Given the description of an element on the screen output the (x, y) to click on. 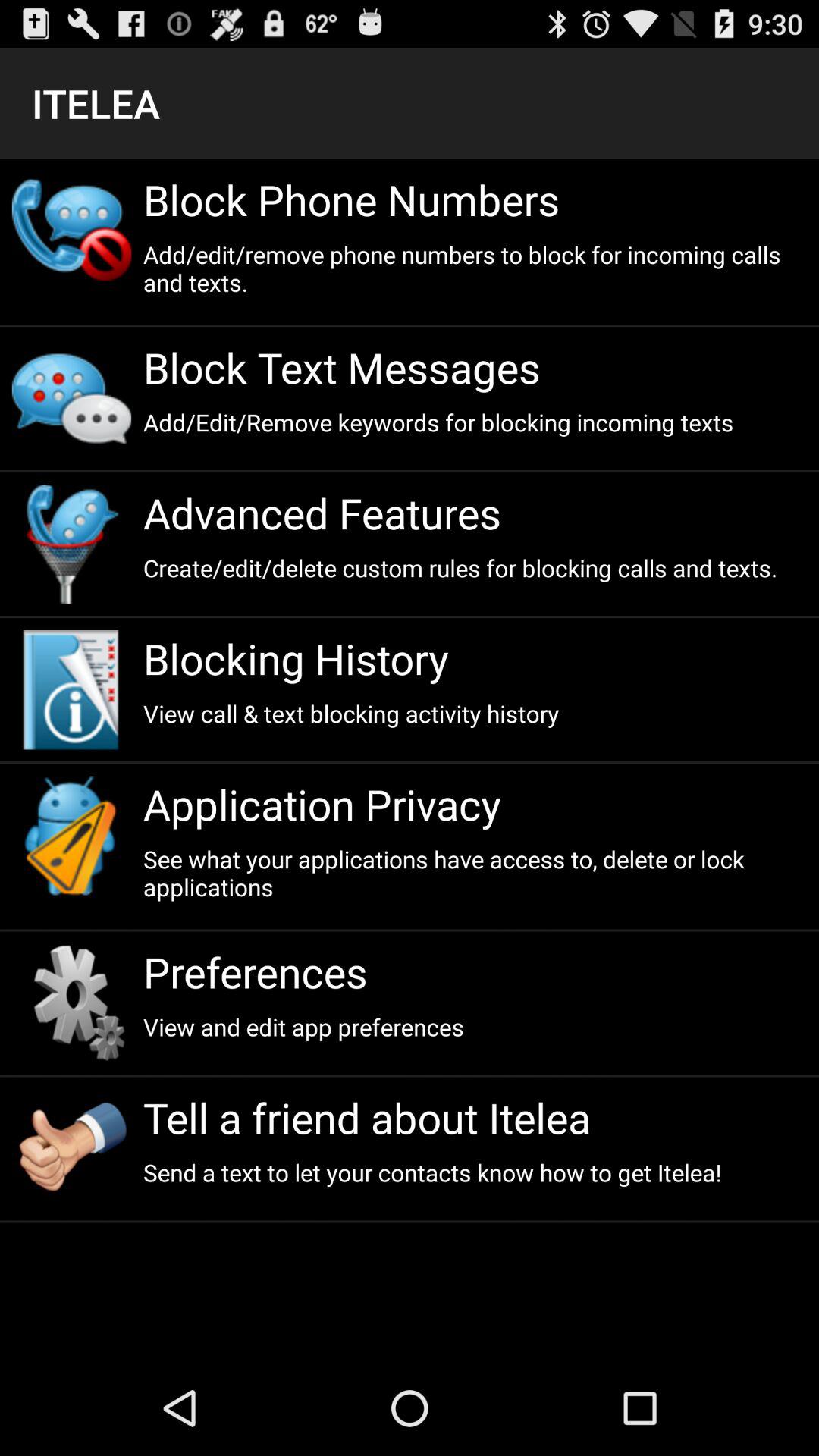
swipe until the advanced features icon (475, 512)
